Given the description of an element on the screen output the (x, y) to click on. 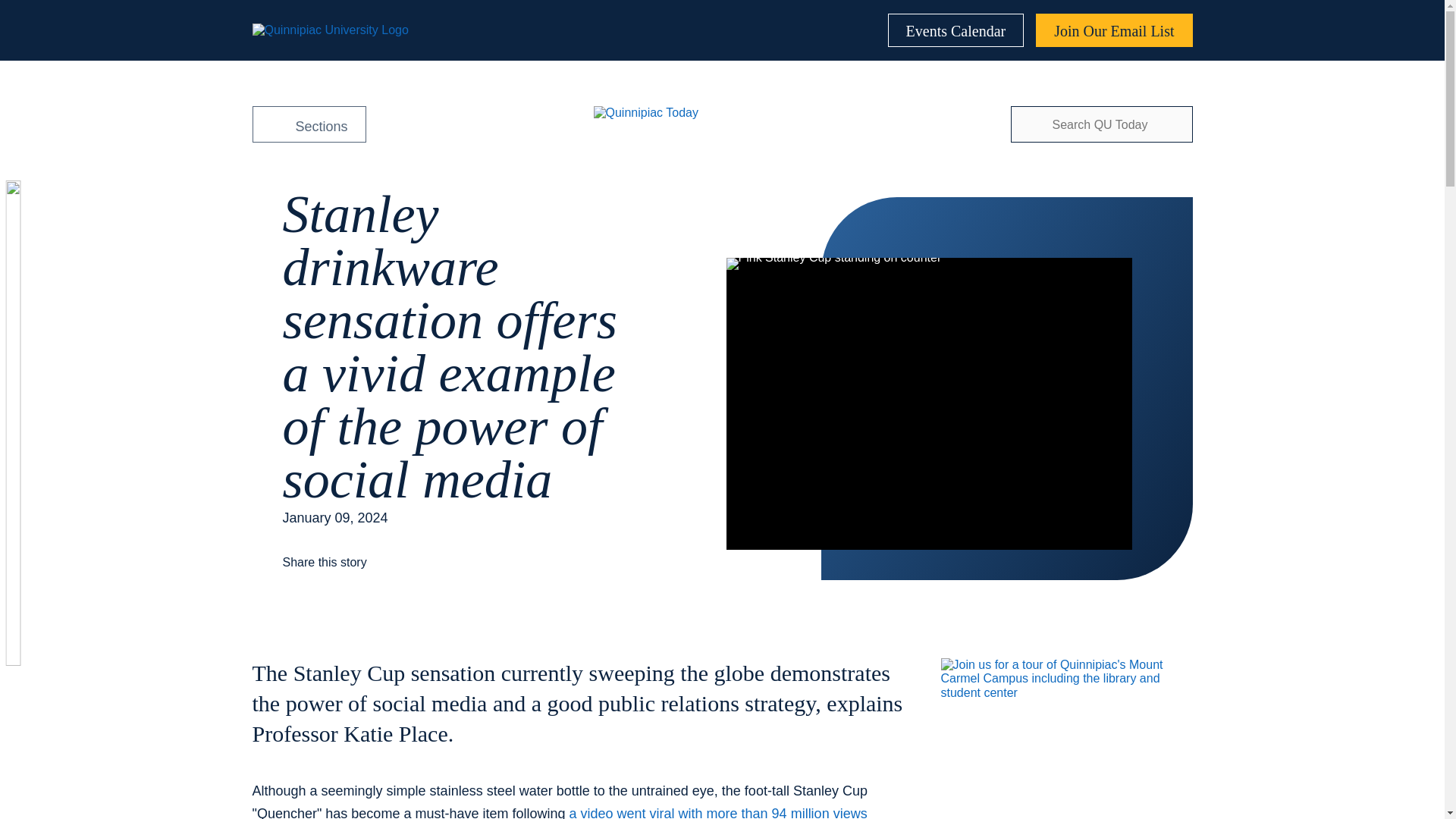
Events Calendar (956, 29)
a video went viral with more than 94 million views (717, 812)
Sections (308, 124)
Join Our Email List (1113, 29)
Quinnipiac Today (721, 124)
